Given the description of an element on the screen output the (x, y) to click on. 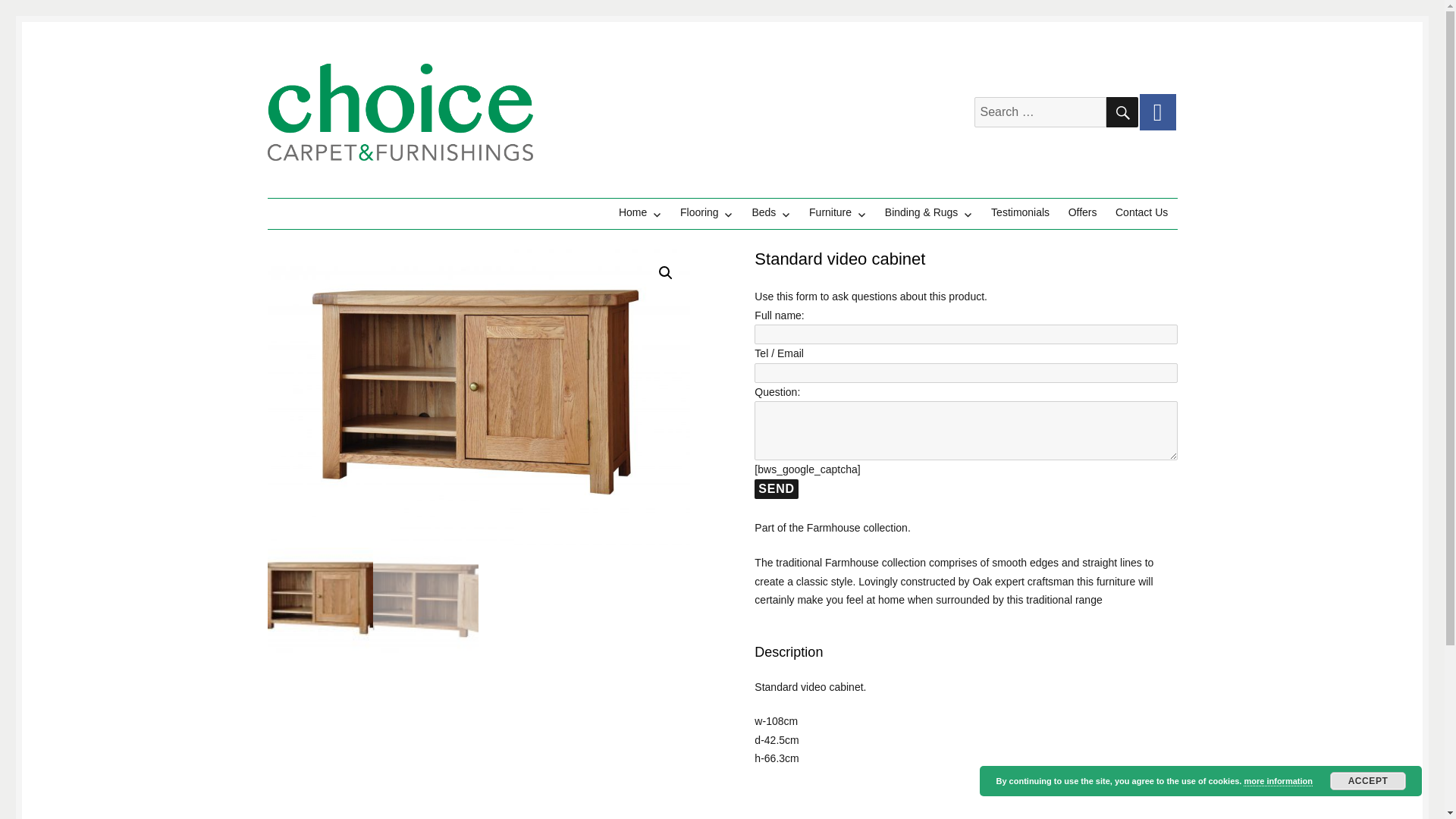
facebook (1156, 112)
Choice Furniture and Carpets (416, 184)
SOE20-STANDARD VIDEO CABINET 01 (477, 397)
Offers (1081, 212)
Flooring (706, 212)
Furniture (837, 212)
Contact Us (1141, 212)
Home (640, 212)
SEARCH (1121, 112)
Beds (770, 212)
send (775, 488)
Testimonials (1020, 212)
